Given the description of an element on the screen output the (x, y) to click on. 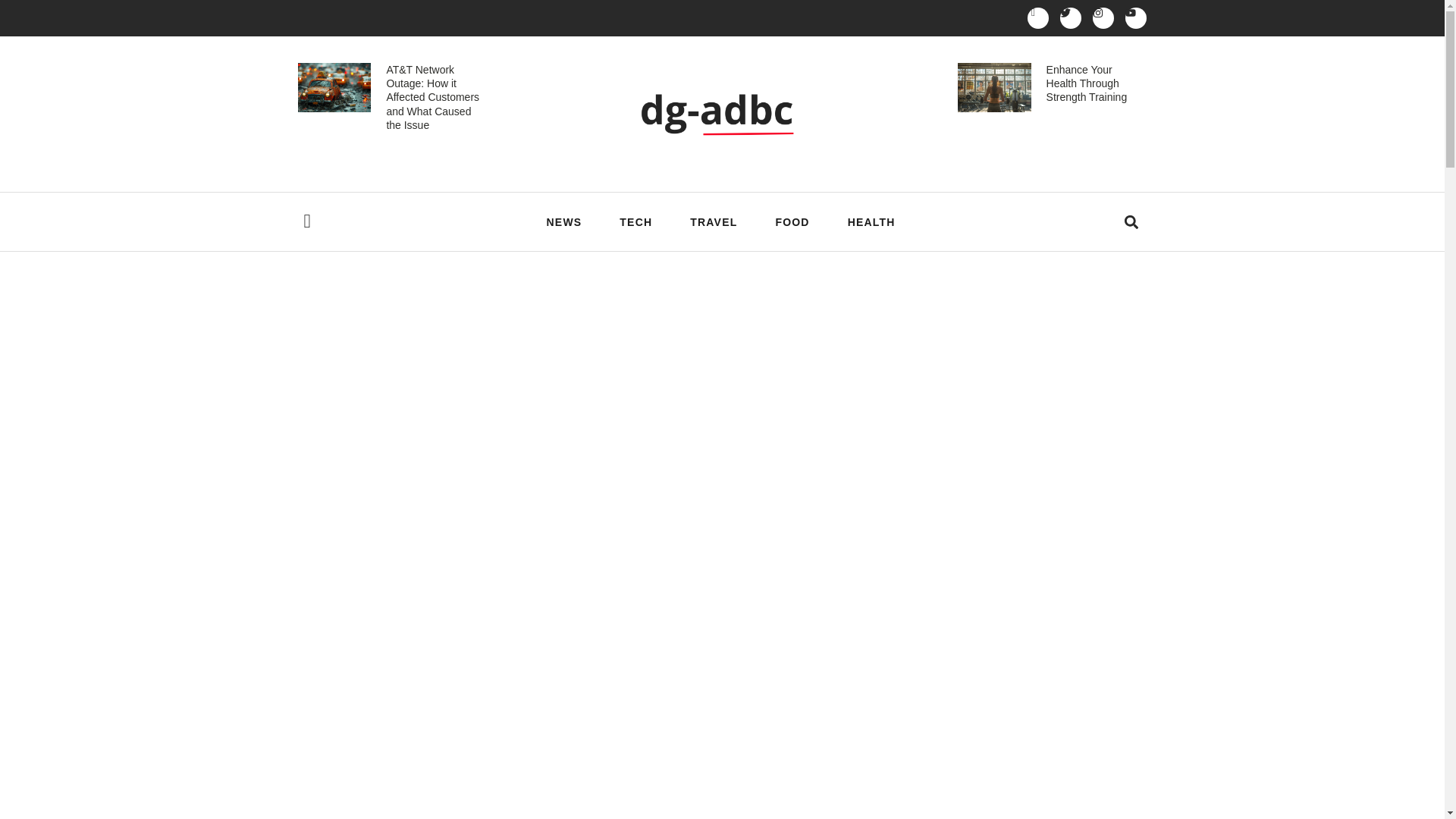
TECH (636, 221)
HEALTH (871, 221)
NEWS (564, 221)
TRAVEL (713, 221)
Enhance Your Health Through Strength Training (1086, 83)
FOOD (791, 221)
